Given the description of an element on the screen output the (x, y) to click on. 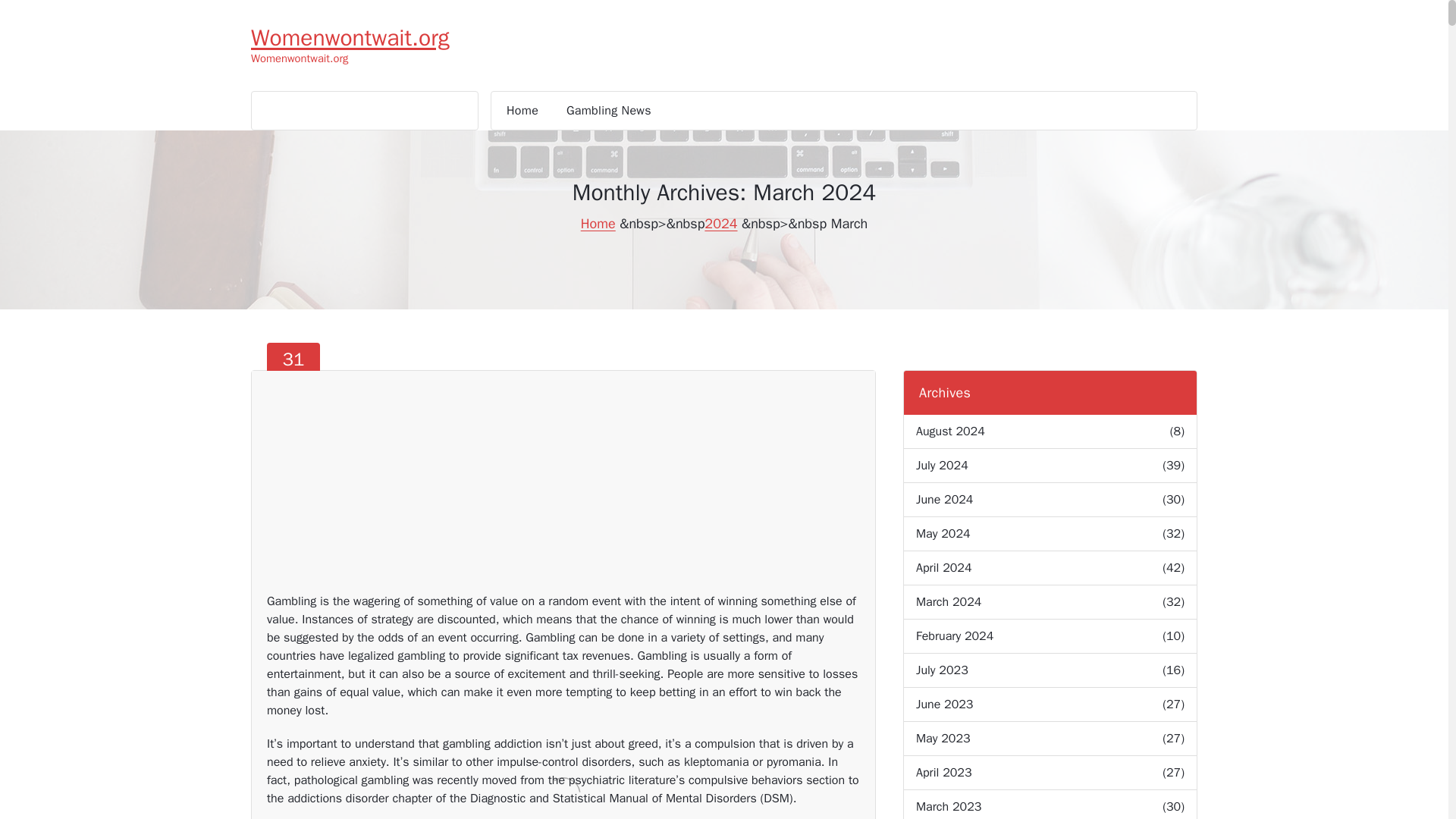
Gambling News (608, 110)
Gambling News (608, 110)
Home (522, 110)
Gambling Addiction (336, 410)
Womenwontwait.org (293, 369)
2024 (349, 37)
Home (720, 223)
Home (522, 110)
